Given the description of an element on the screen output the (x, y) to click on. 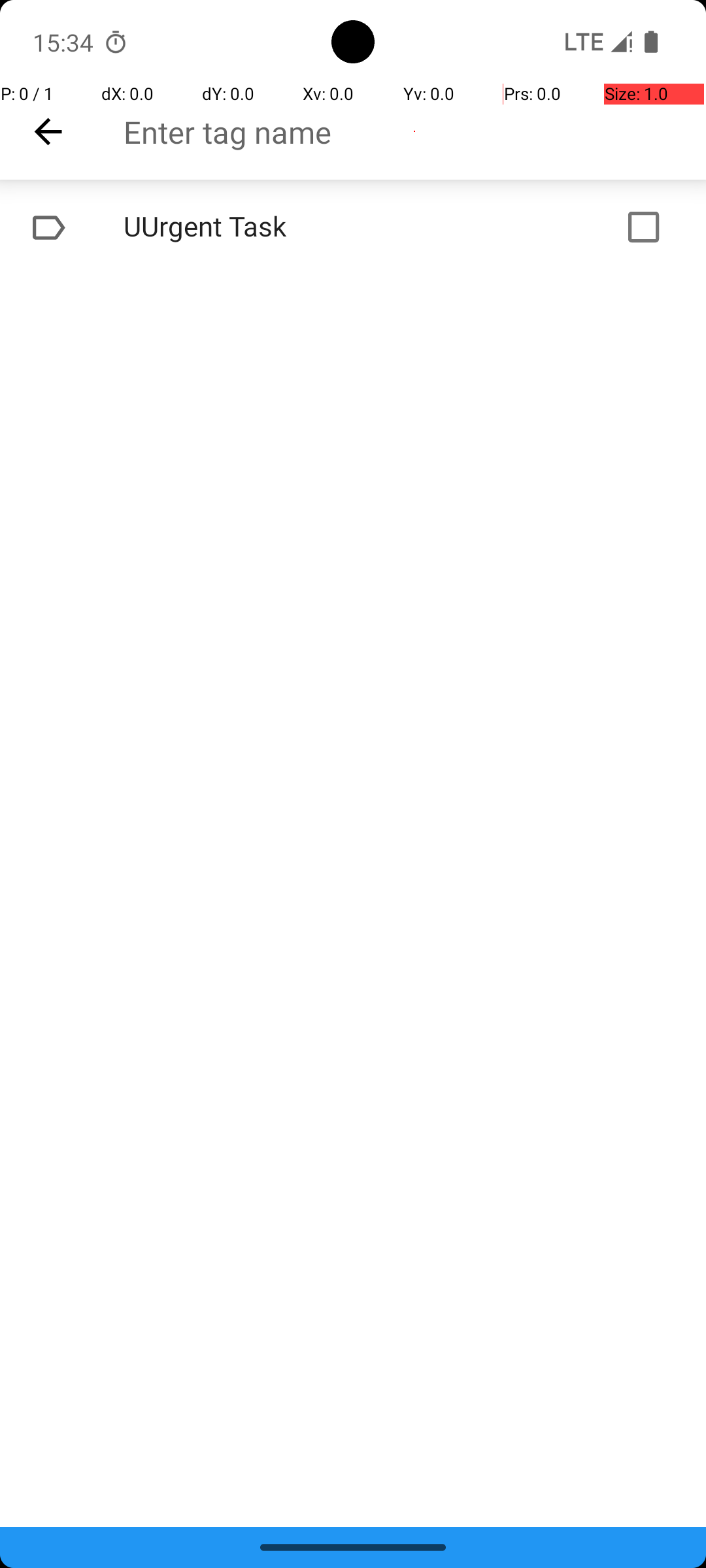
Enter tag name Element type: android.widget.EditText (414, 131)
UUrgent Task Element type: android.widget.TextView (311, 227)
